Given the description of an element on the screen output the (x, y) to click on. 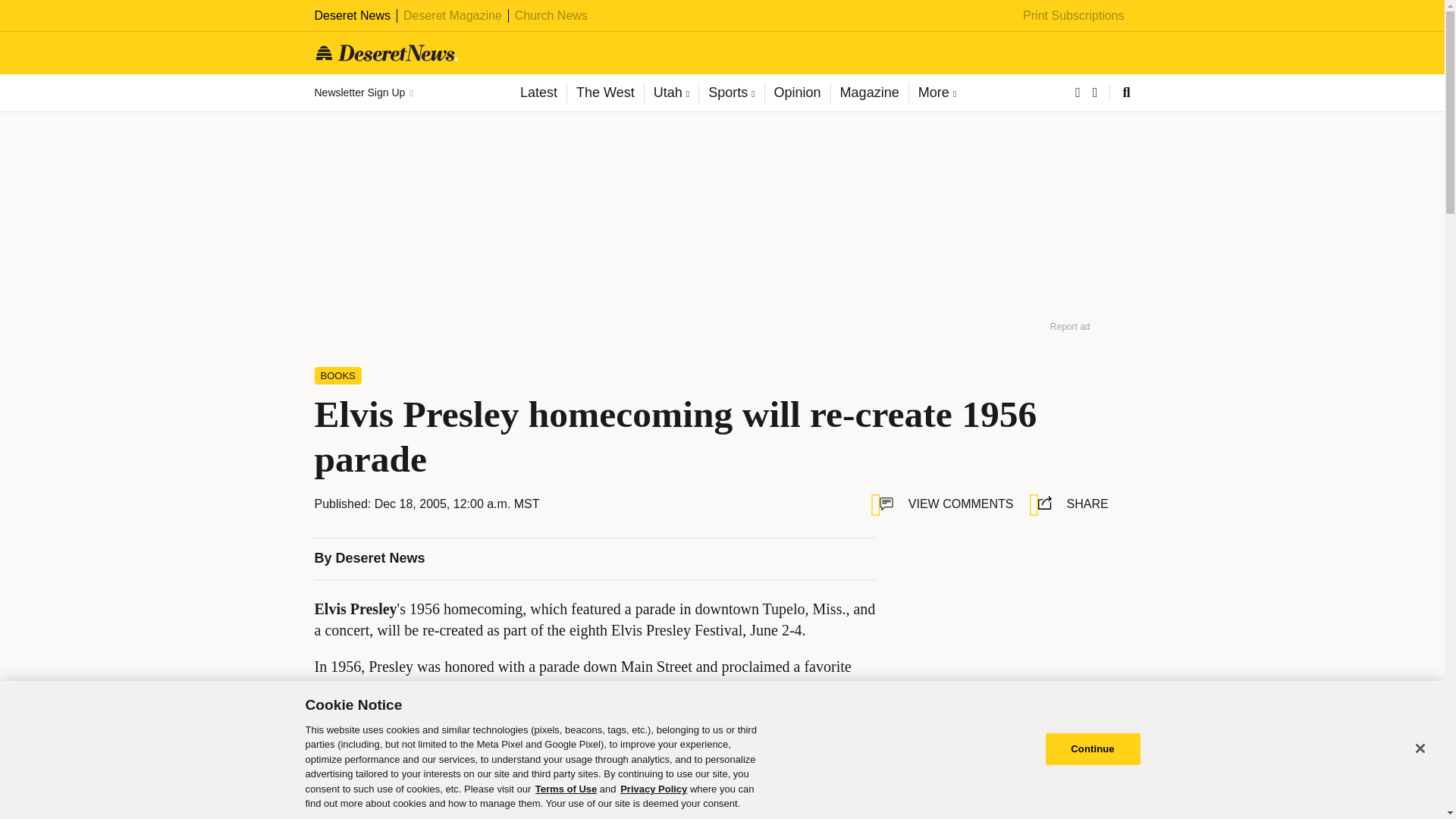
Print Subscriptions (1073, 15)
3rd party ad content (1008, 632)
Deseret Magazine (452, 15)
Report ad (1102, 739)
Magazine (868, 92)
Newsletter Sign Up (363, 92)
BOOKS (337, 375)
Utah (670, 92)
Sports (730, 92)
Latest (538, 92)
Church News (551, 15)
Report ad (1069, 326)
The West (604, 92)
Opinion (796, 92)
